Given the description of an element on the screen output the (x, y) to click on. 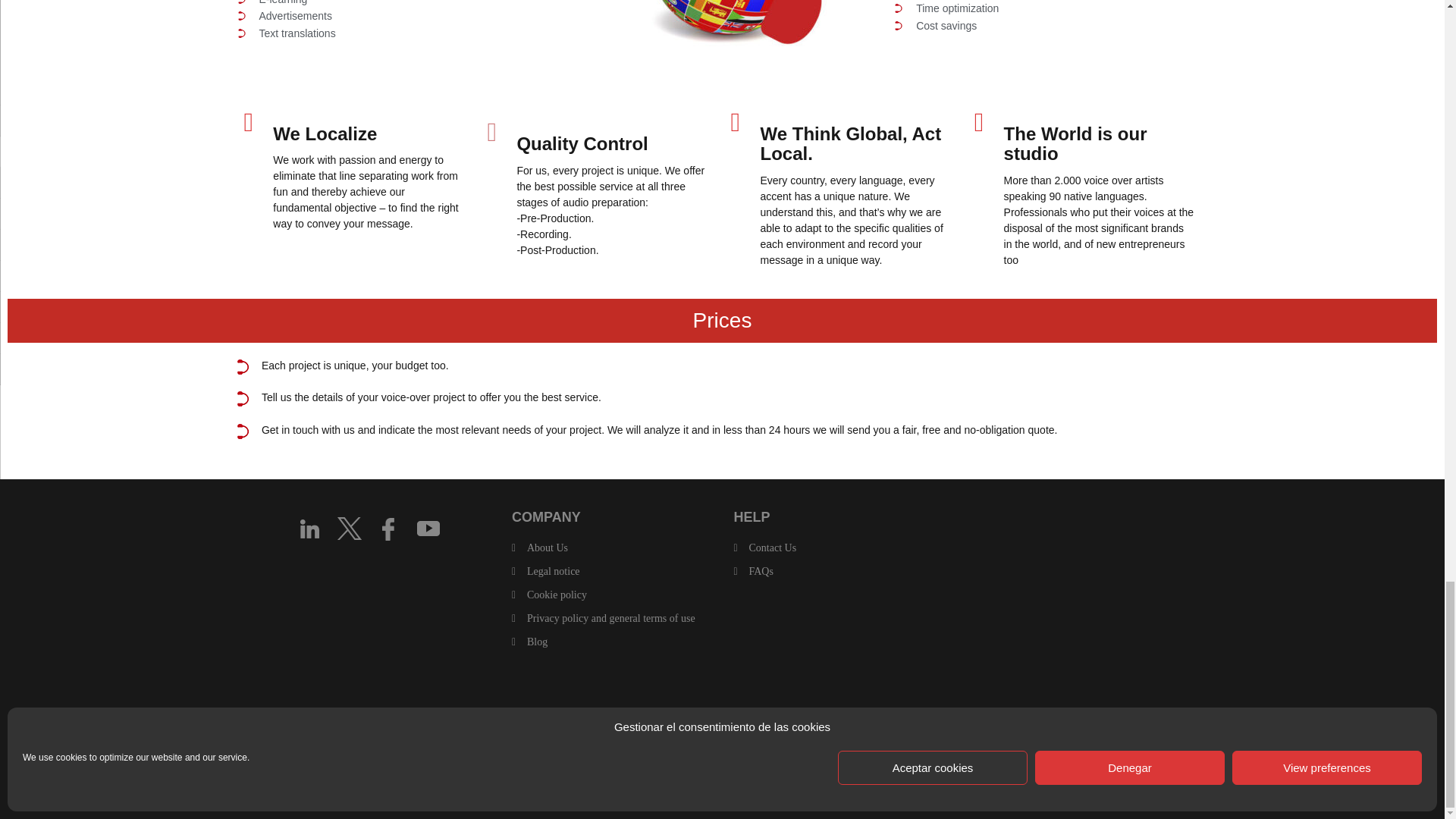
Cookie policy (556, 594)
Arabic (520, 714)
Twitter (348, 526)
Blog (537, 641)
Youtube (426, 527)
Dutch (557, 714)
Legal notice (553, 571)
About Us (547, 547)
Linkedin (309, 527)
Facebook (387, 527)
PRIVACY POLICY AND GENERAL TERMS OF USE (611, 618)
